Given the description of an element on the screen output the (x, y) to click on. 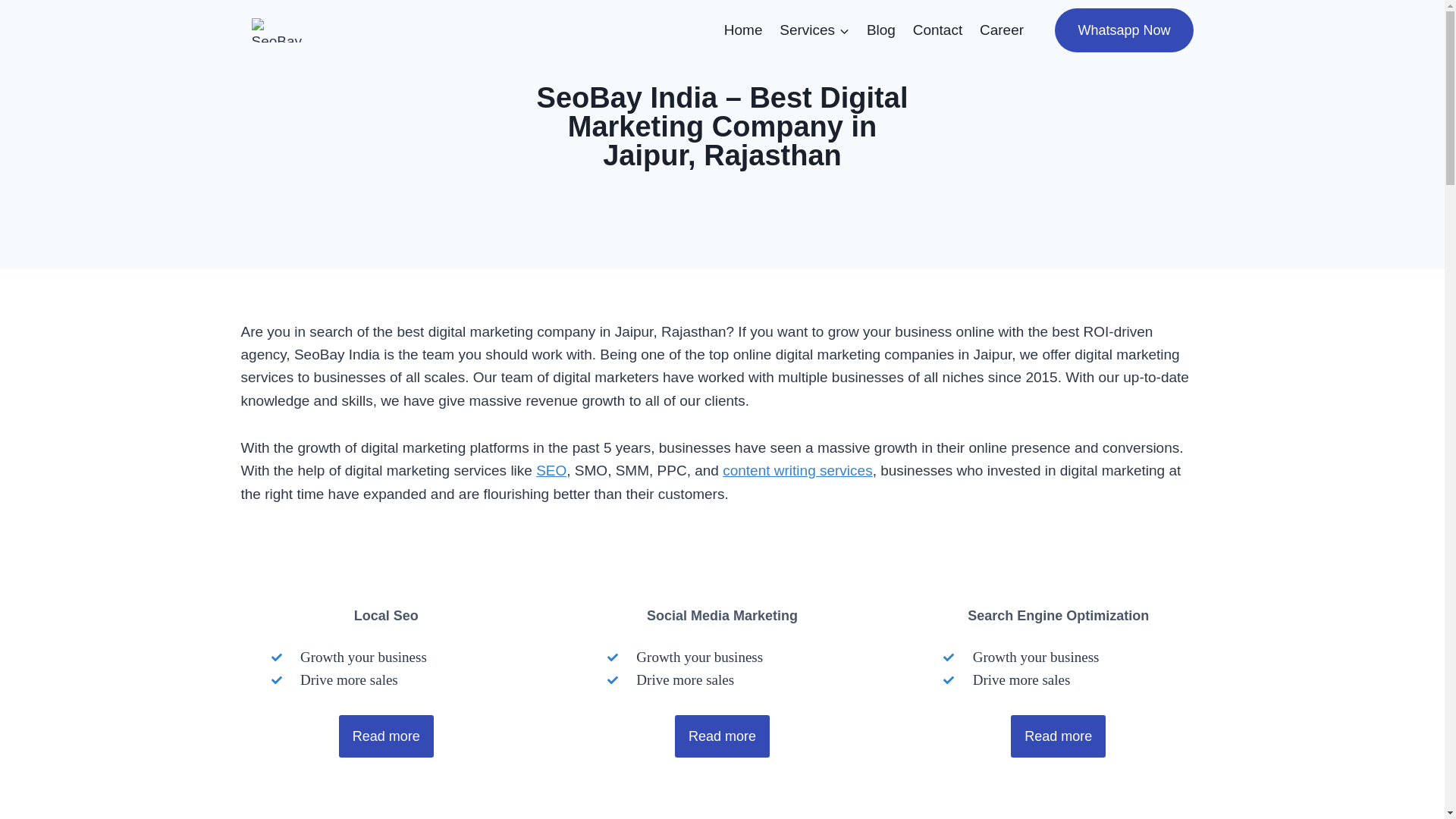
Whatsapp Now (1123, 30)
SEO (550, 470)
Blog (881, 29)
Read more (1057, 736)
Services (815, 29)
Read more (386, 736)
Career (1001, 29)
Contact (937, 29)
Home (742, 29)
content writing services (797, 470)
